Given the description of an element on the screen output the (x, y) to click on. 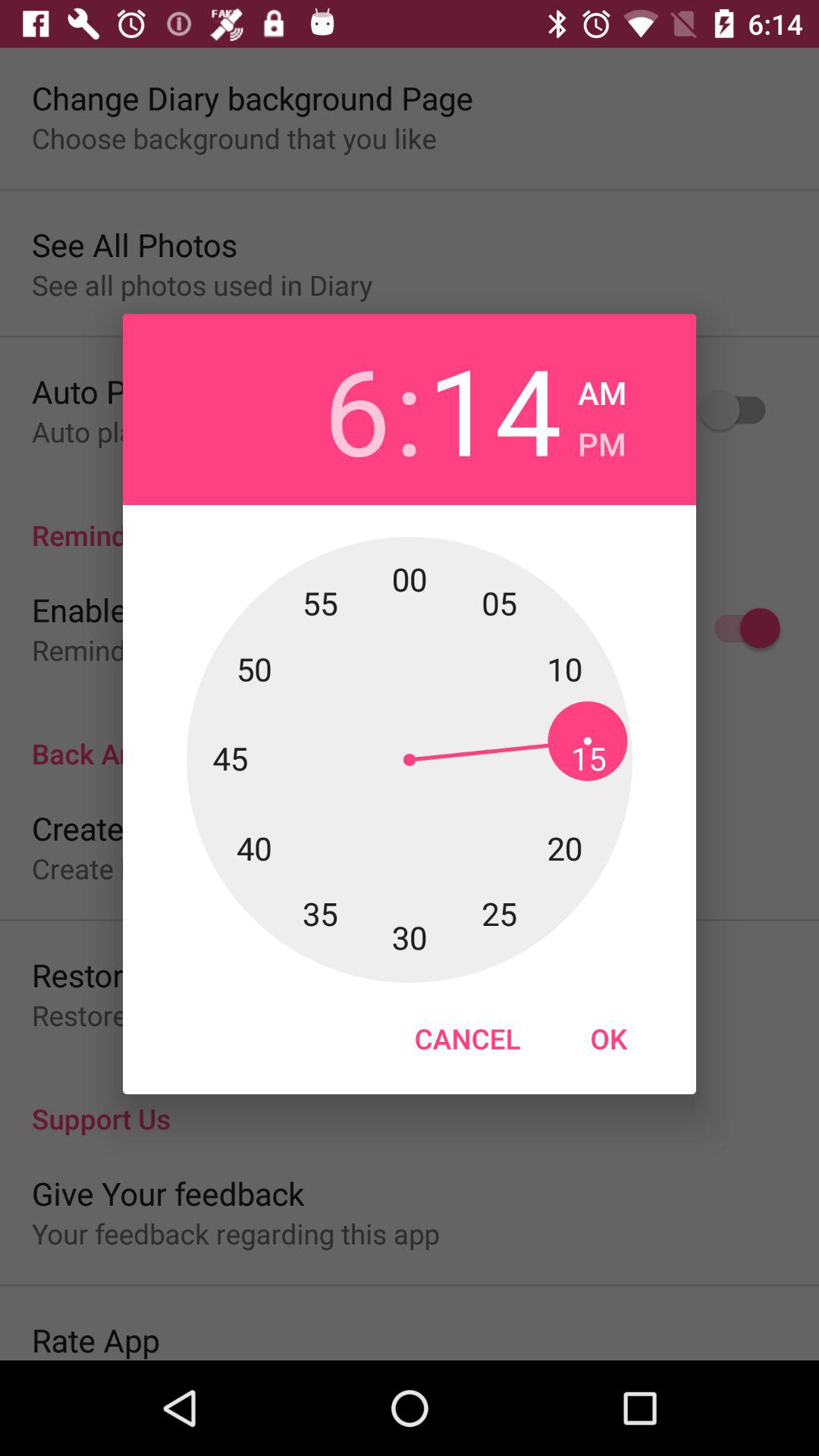
click app to the right of the 14 icon (601, 388)
